Given the description of an element on the screen output the (x, y) to click on. 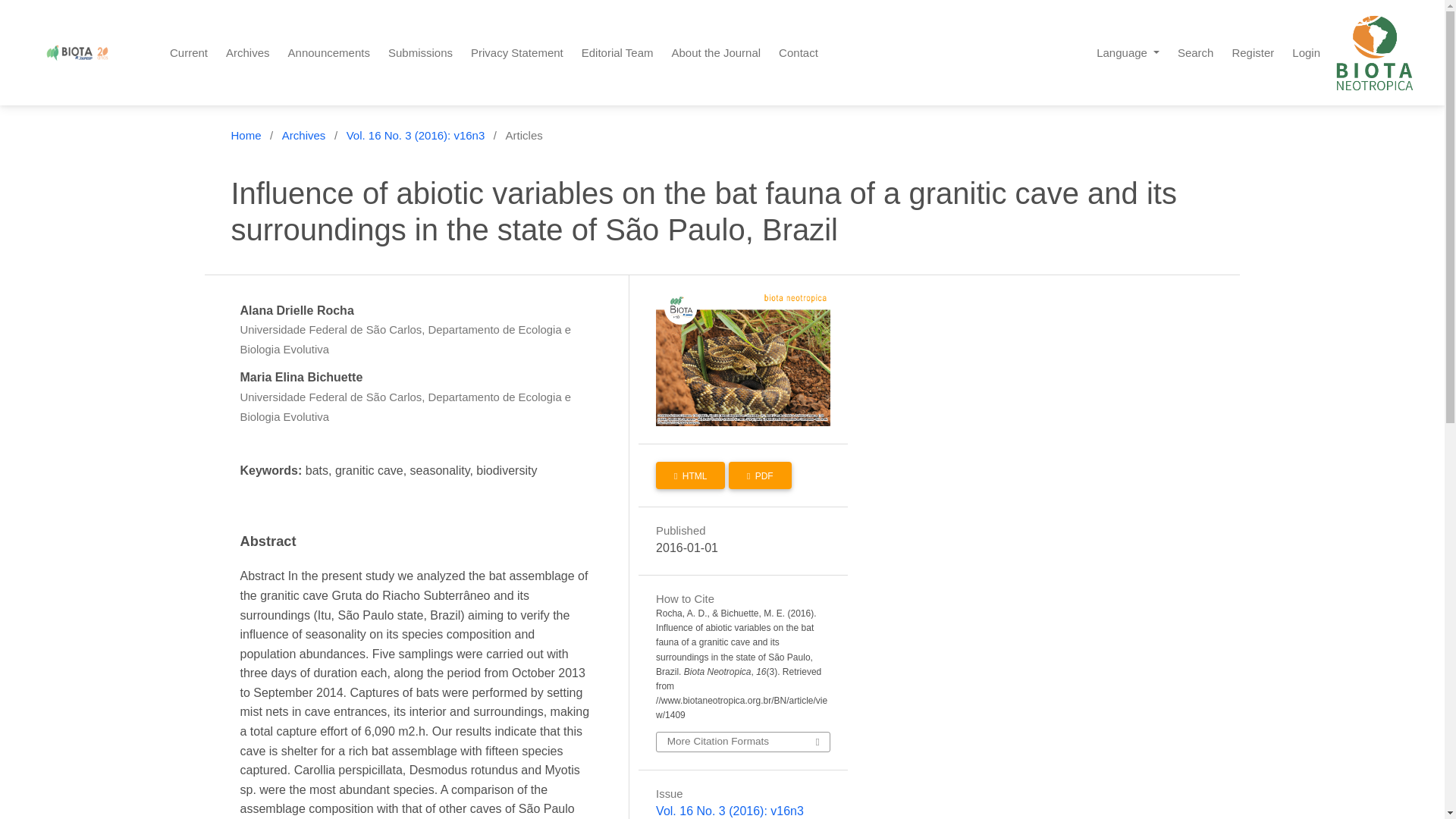
Archives (304, 135)
Contact (798, 52)
Current (188, 52)
More Citation Formats (742, 741)
Announcements (328, 52)
Home (245, 135)
Language (1128, 52)
Privacy Statement (516, 52)
Register (1252, 52)
Editorial Team (617, 52)
Submissions (419, 52)
HTML (690, 474)
Login (1305, 52)
About the Journal (716, 52)
Search (1196, 52)
